Given the description of an element on the screen output the (x, y) to click on. 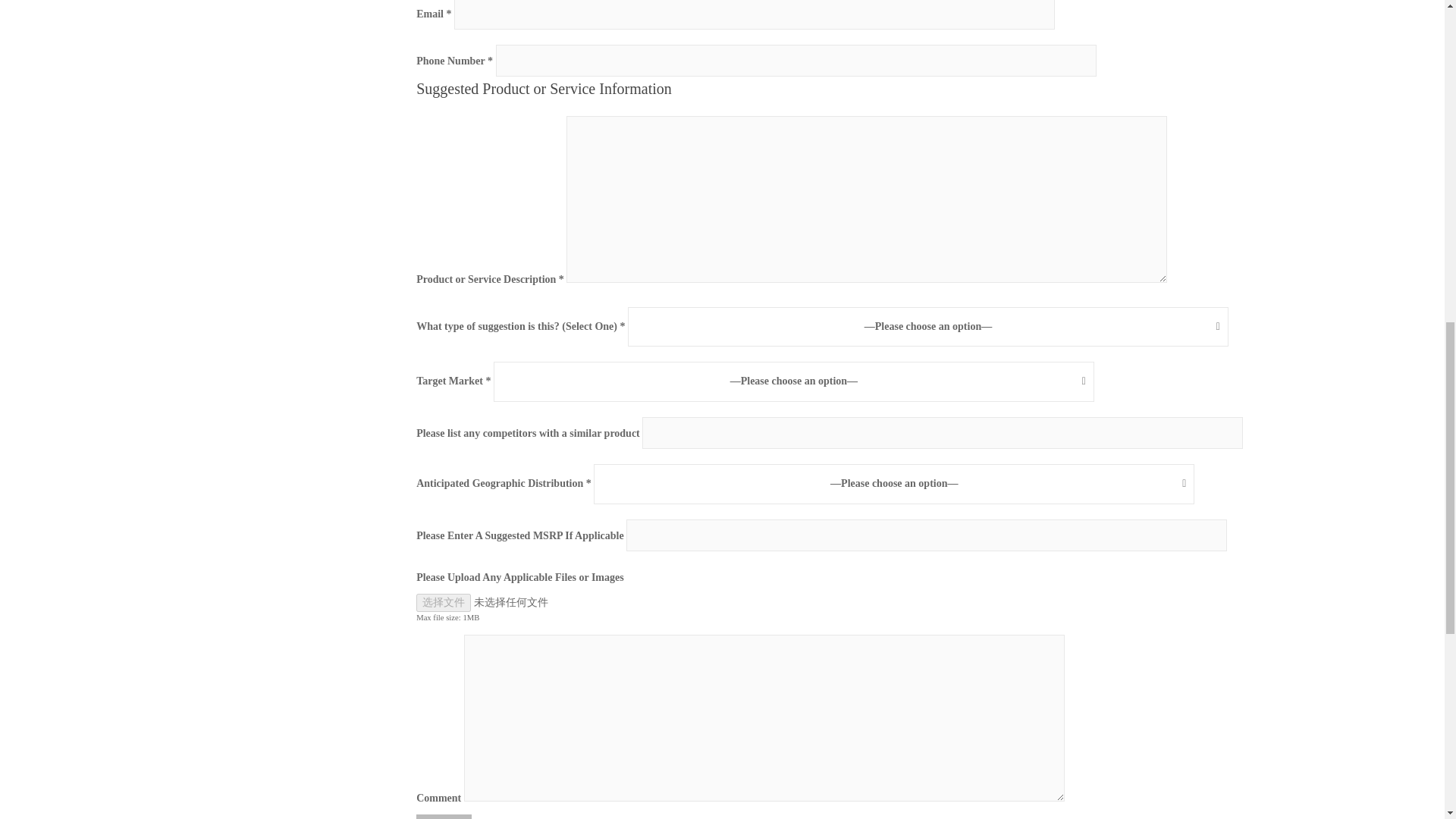
Send (443, 816)
